Given the description of an element on the screen output the (x, y) to click on. 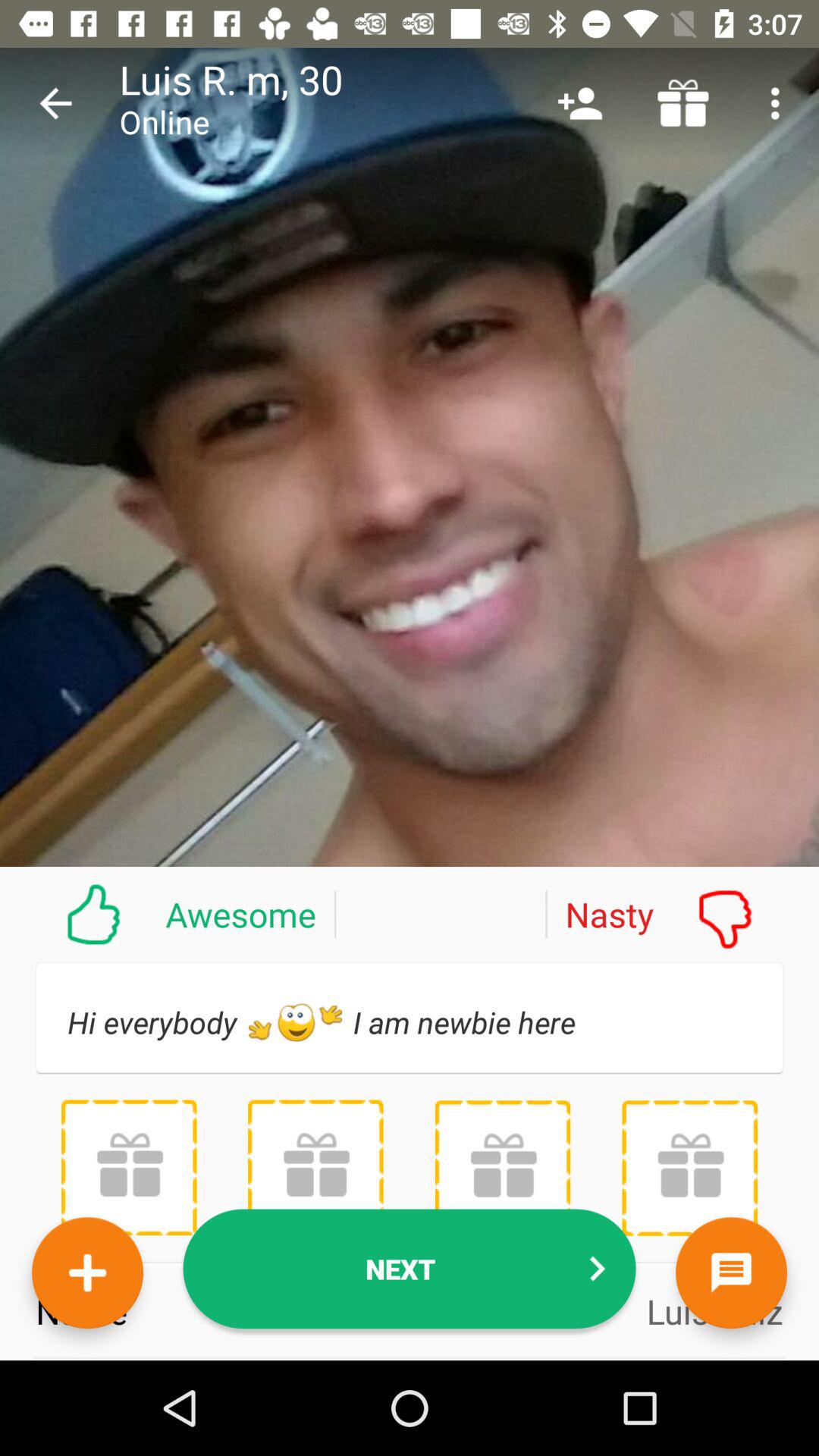
turn on the nasty (682, 914)
